Given the description of an element on the screen output the (x, y) to click on. 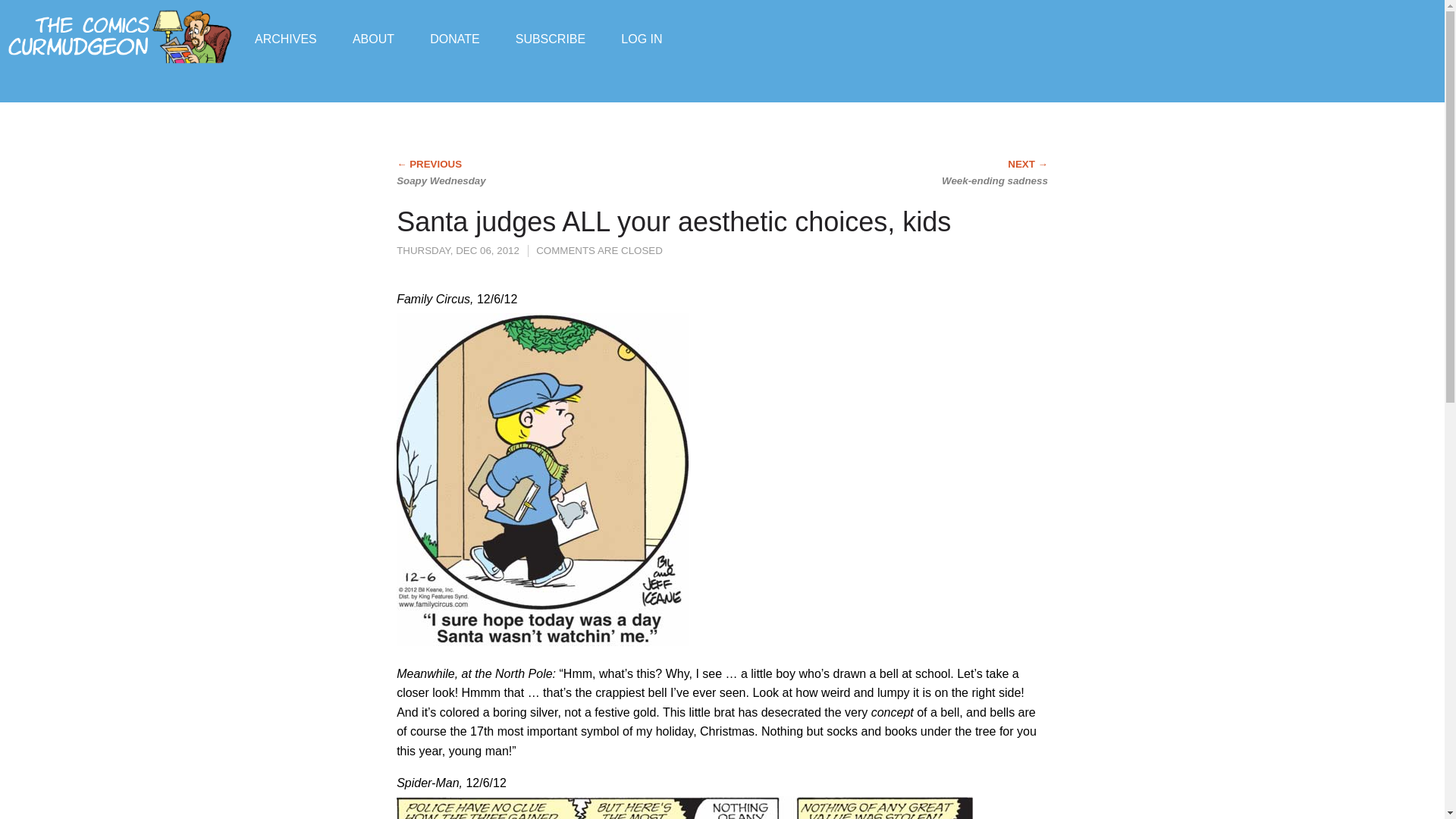
ARCHIVES (285, 38)
Santa judges ALL your aesthetic choices, kids (673, 221)
LOG IN (641, 38)
DONATE (454, 38)
Soapy Wednesday (522, 172)
ABOUT (373, 38)
SUBSCRIBE (550, 38)
Week-ending sadness (921, 172)
